Given the description of an element on the screen output the (x, y) to click on. 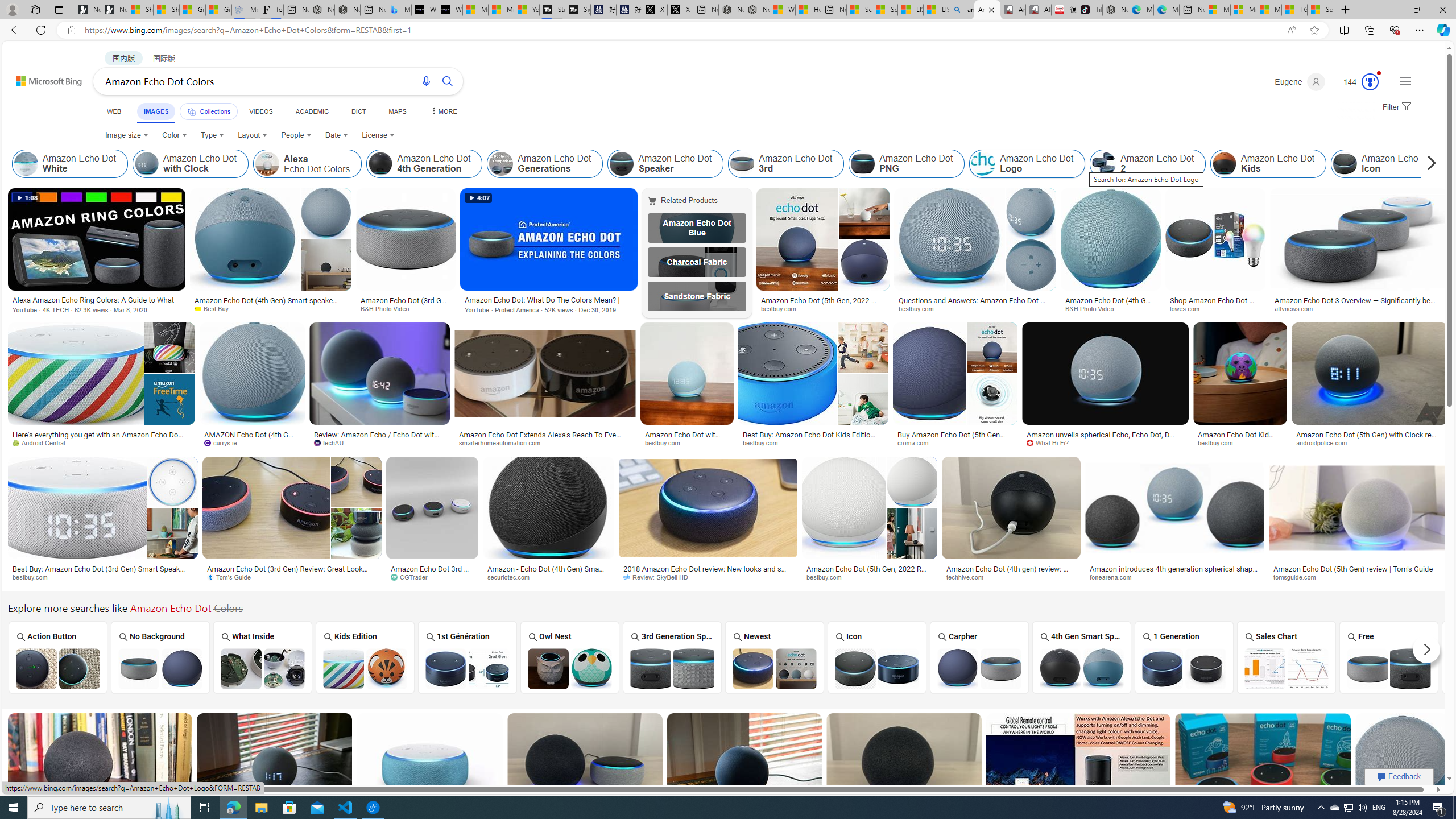
lowes.com (1215, 308)
All Cubot phones (1037, 9)
Amazon Echo Dot 2 (1147, 163)
Search button (447, 80)
License (377, 135)
VIDEOS (260, 111)
securiotec.com (512, 576)
What Hi-Fi? (1104, 442)
Alexa Echo Dot Colors (307, 163)
